Given the description of an element on the screen output the (x, y) to click on. 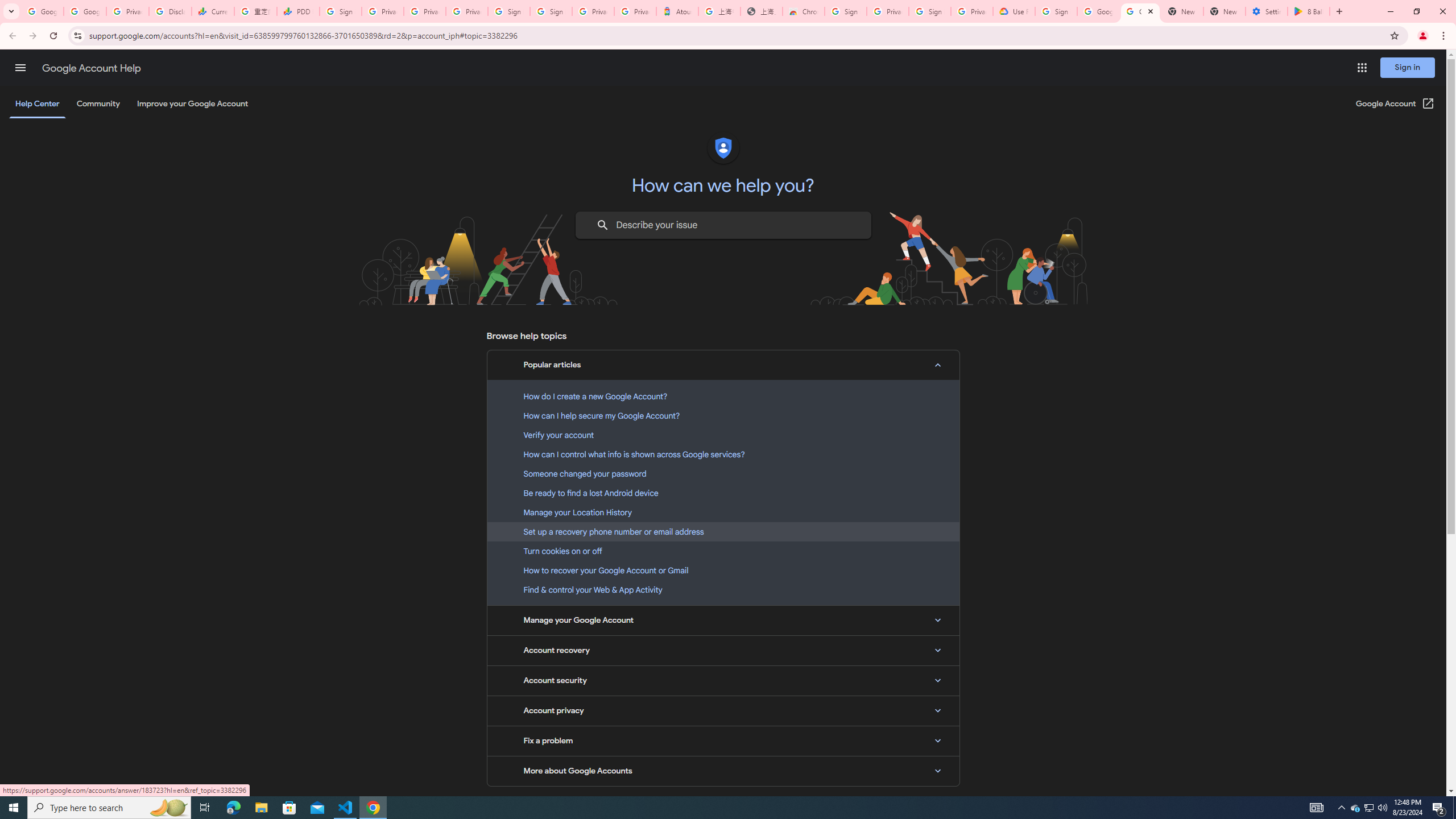
Sign in - Google Accounts (845, 11)
Manage your Google Account (722, 620)
Account recovery (722, 650)
New Tab (1224, 11)
Community (97, 103)
Describe your issue to find information that might help you. (722, 225)
Fix a problem (722, 740)
Help Center (36, 103)
Chrome Web Store - Color themes by Chrome (803, 11)
